Given the description of an element on the screen output the (x, y) to click on. 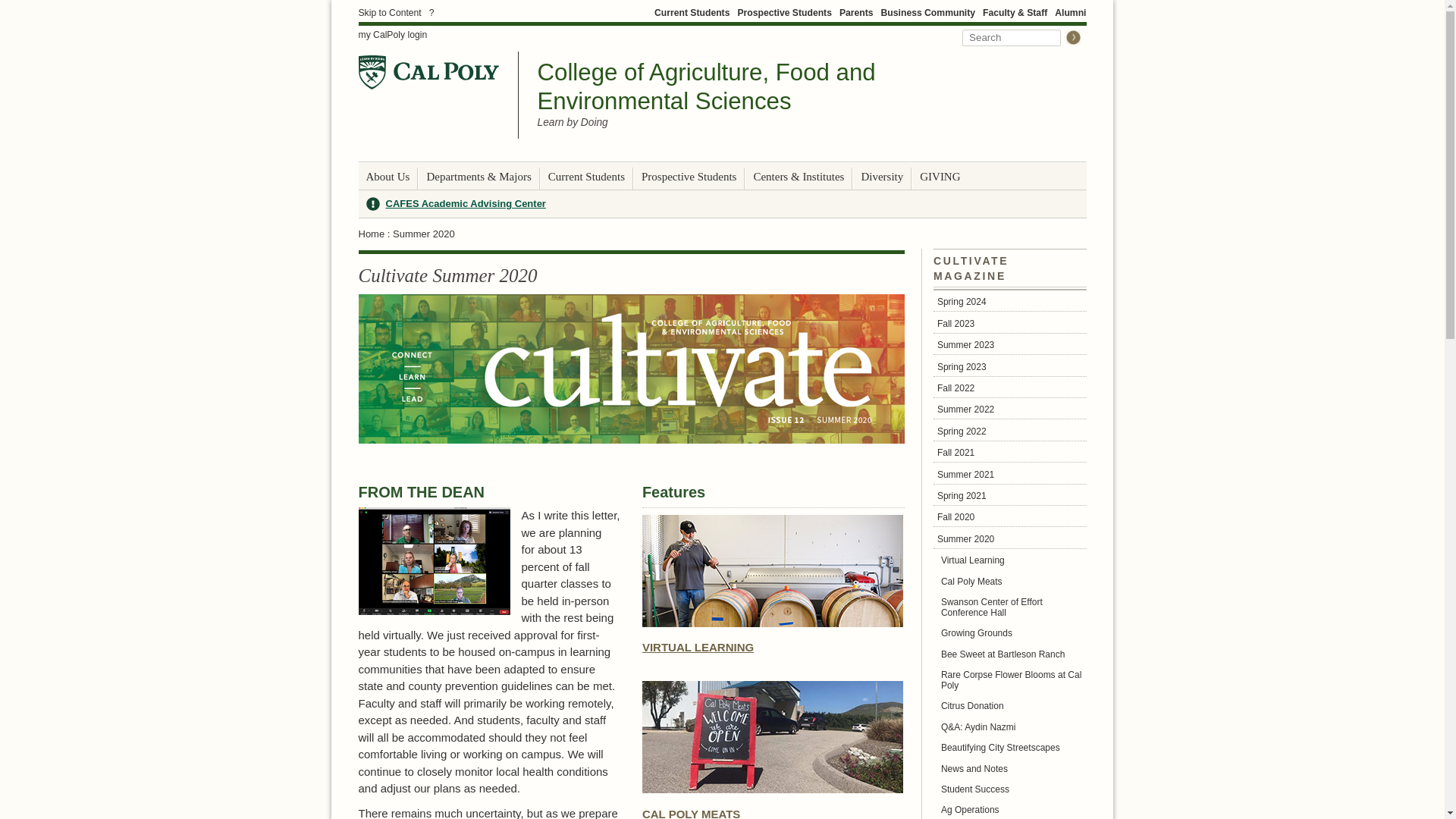
Prospective Students (783, 12)
skip to content (389, 12)
Search this site (1011, 37)
Parents (856, 12)
my CalPoly login (392, 34)
Current Students (691, 12)
Go to Cal Poly Home (427, 72)
my CalPoly login (392, 34)
Skip to Content (389, 12)
Business Community (927, 12)
